Given the description of an element on the screen output the (x, y) to click on. 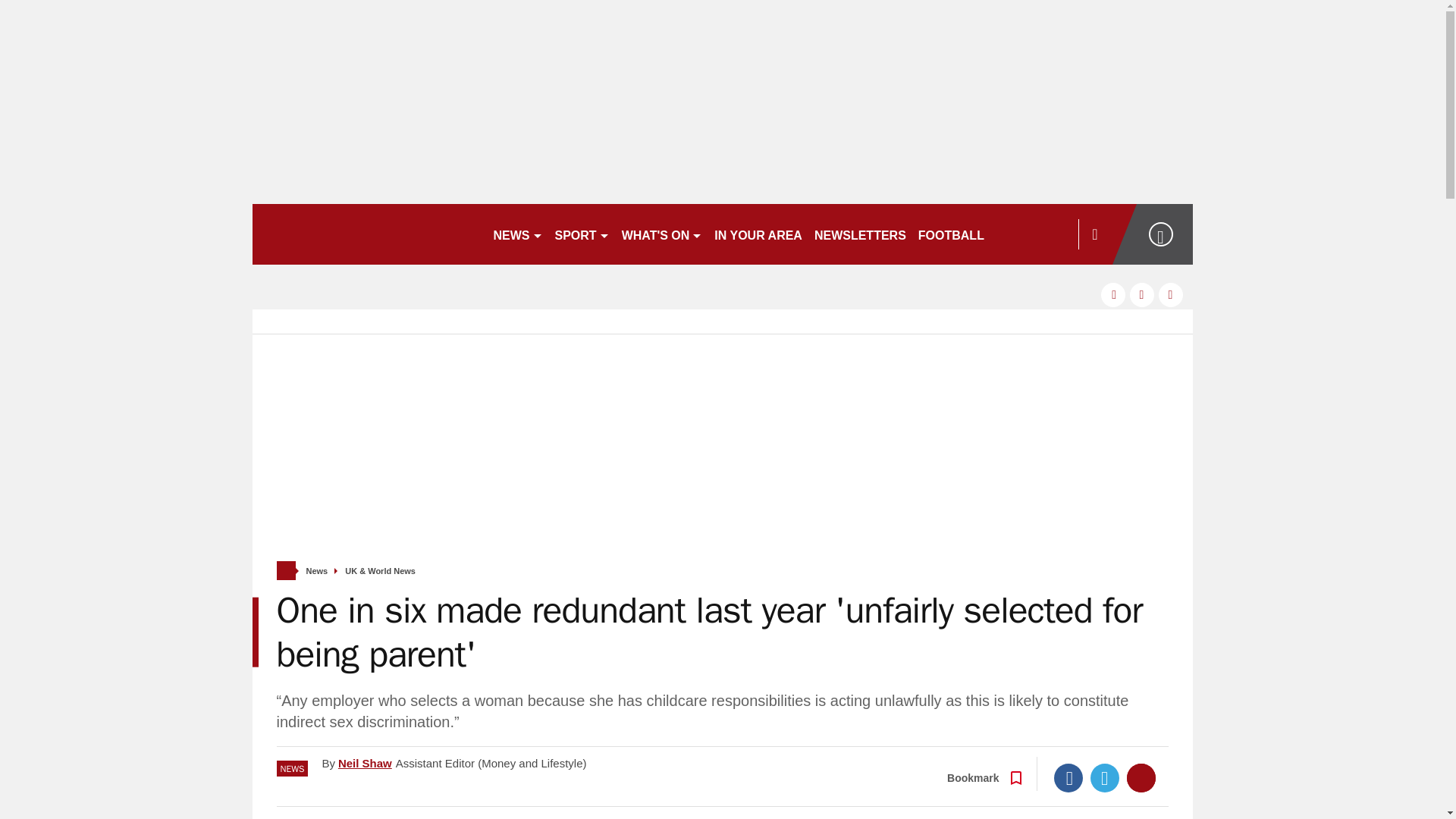
NEWSLETTERS (860, 233)
RUGBY LEAGUE (1045, 233)
WHAT'S ON (662, 233)
Twitter (1104, 777)
FOOTBALL (951, 233)
hulldailymail (365, 233)
IN YOUR AREA (757, 233)
instagram (1170, 294)
Facebook (1068, 777)
NEWS (517, 233)
SPORT (581, 233)
twitter (1141, 294)
facebook (1112, 294)
